Given the description of an element on the screen output the (x, y) to click on. 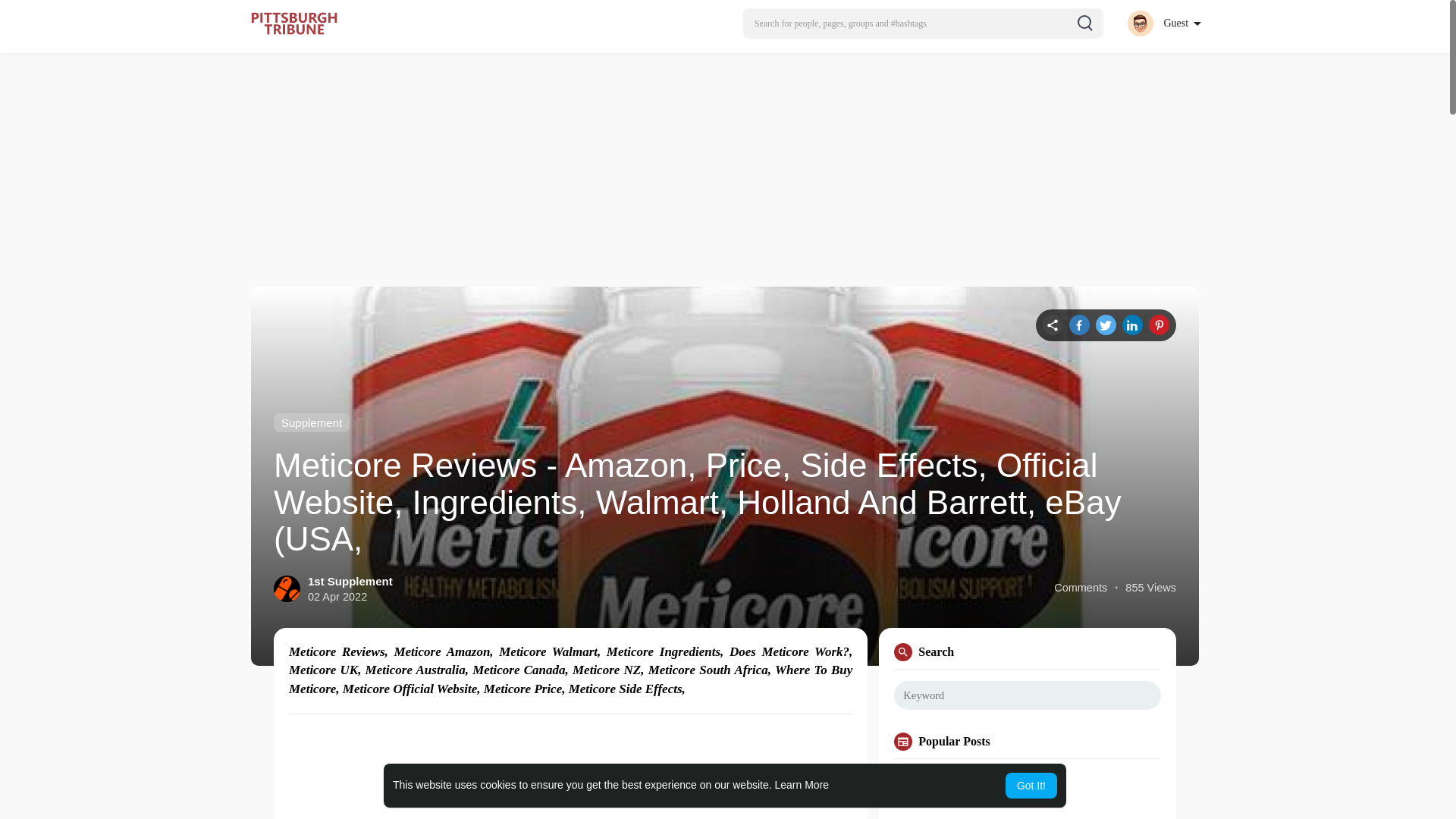
Twitter (1106, 324)
Guest (1163, 23)
Got It! (1031, 785)
Linkedin (1132, 324)
Facebook (1078, 324)
Learn More (801, 784)
Comments (1080, 587)
Advertisement (1026, 794)
Supplement (311, 422)
1st Supplement (350, 581)
Pinterest (1158, 324)
Advertisement (569, 774)
Timeline (1052, 324)
